Given the description of an element on the screen output the (x, y) to click on. 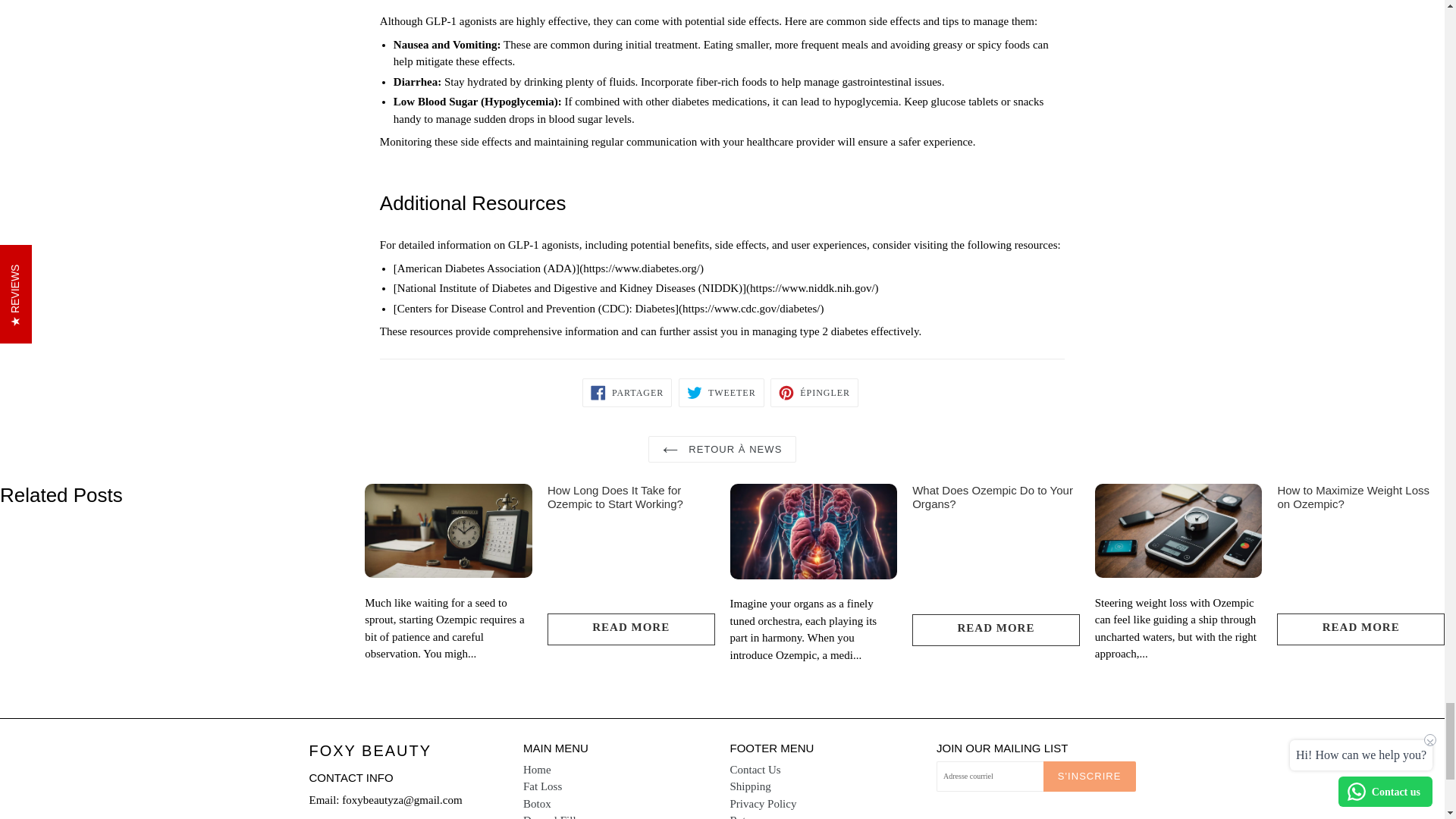
Partager sur Facebook (626, 392)
Tweeter sur Twitter (721, 392)
